Given the description of an element on the screen output the (x, y) to click on. 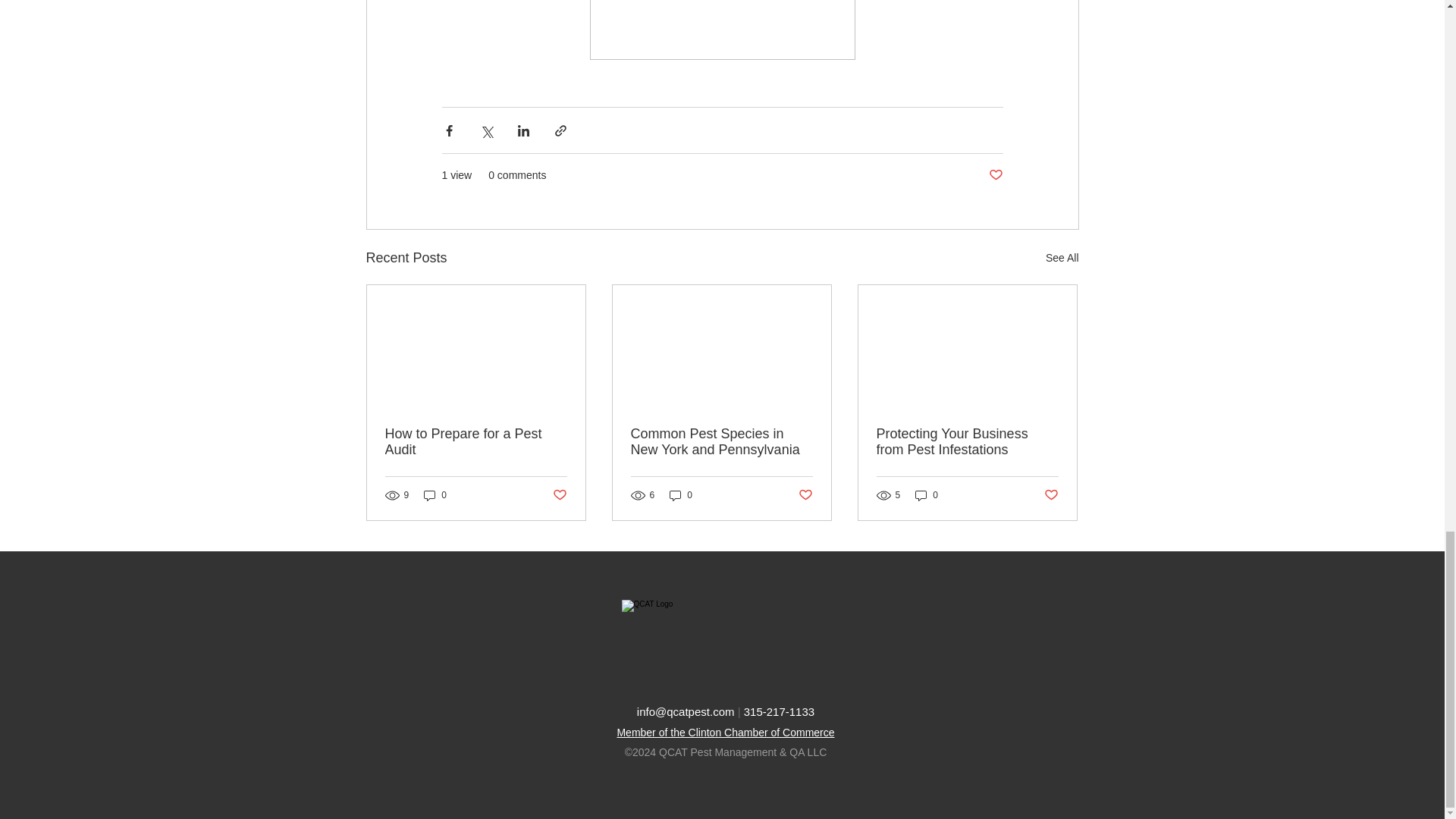
0 (926, 494)
Member of the Clinton Chamber of Commerce (724, 732)
0 (435, 494)
Post not marked as liked (1050, 495)
How to Prepare for a Pest Audit (476, 441)
See All (1061, 258)
logo-white-bg.png (724, 642)
Post not marked as liked (558, 495)
Post not marked as liked (995, 175)
Common Pest Species in New York and Pennsylvania (721, 441)
Post not marked as liked (804, 495)
Protecting Your Business from Pest Infestations (967, 441)
0 (681, 494)
